Given the description of an element on the screen output the (x, y) to click on. 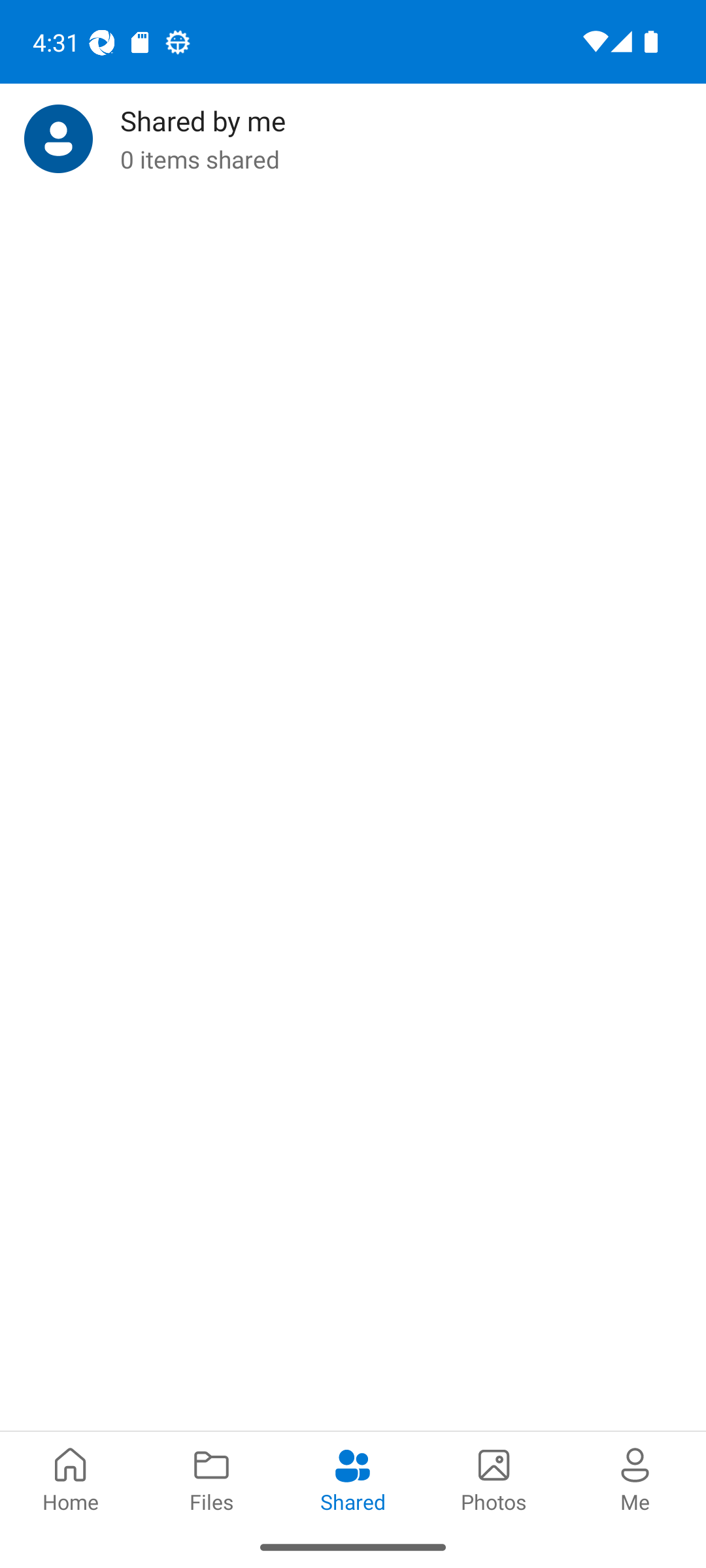
0 Shared by me 0 items shared (353, 138)
Home pivot Home (70, 1478)
Files pivot Files (211, 1478)
Photos pivot Photos (493, 1478)
Me pivot Me (635, 1478)
